Given the description of an element on the screen output the (x, y) to click on. 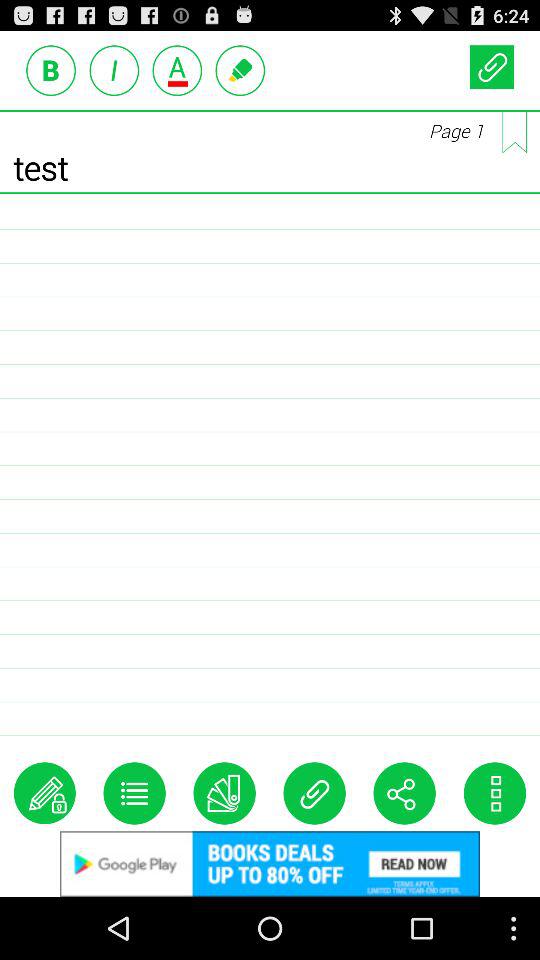
toggle the advertisement option (114, 70)
